Given the description of an element on the screen output the (x, y) to click on. 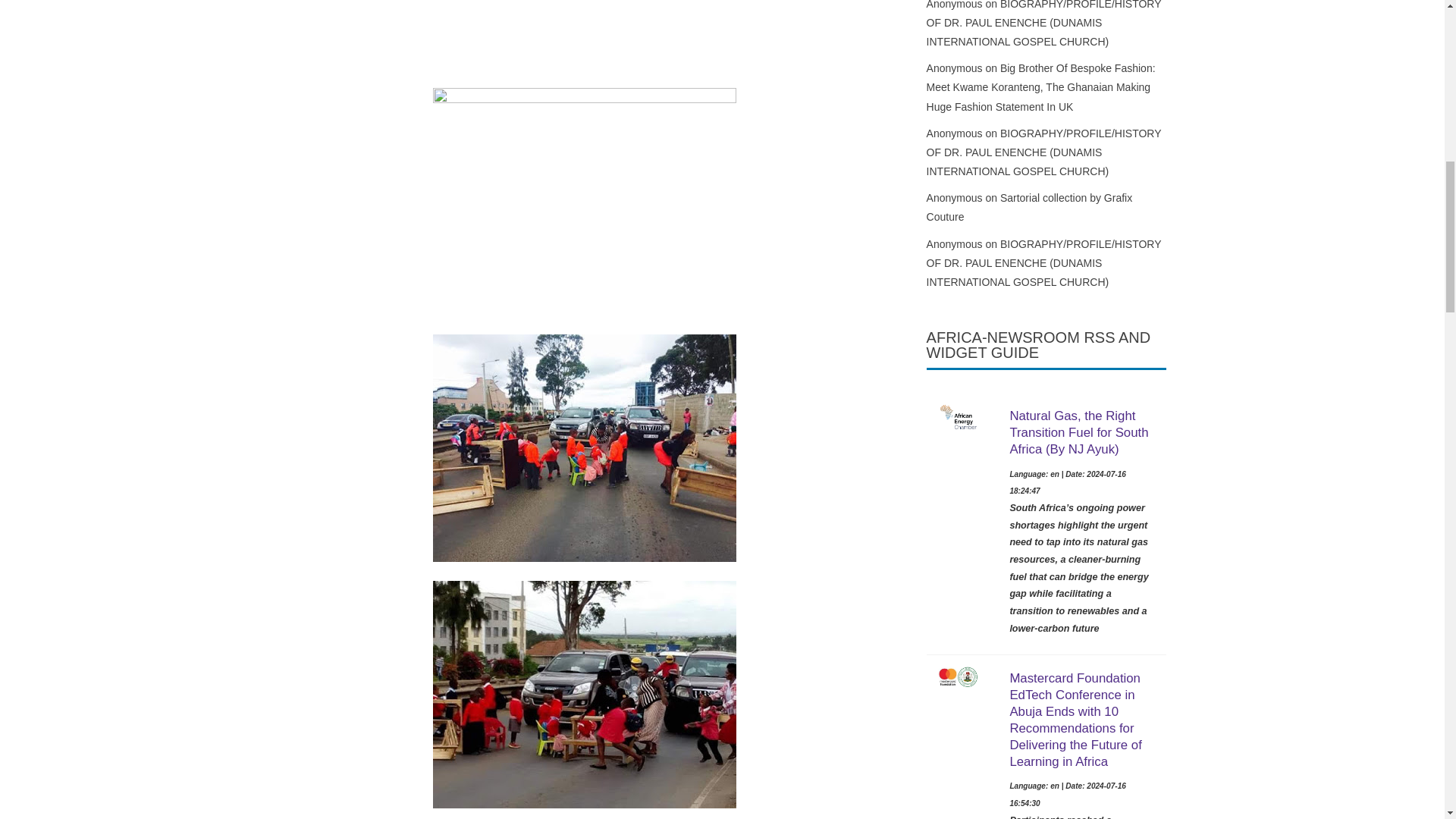
Sartorial collection by Grafix Couture (1029, 206)
